Given the description of an element on the screen output the (x, y) to click on. 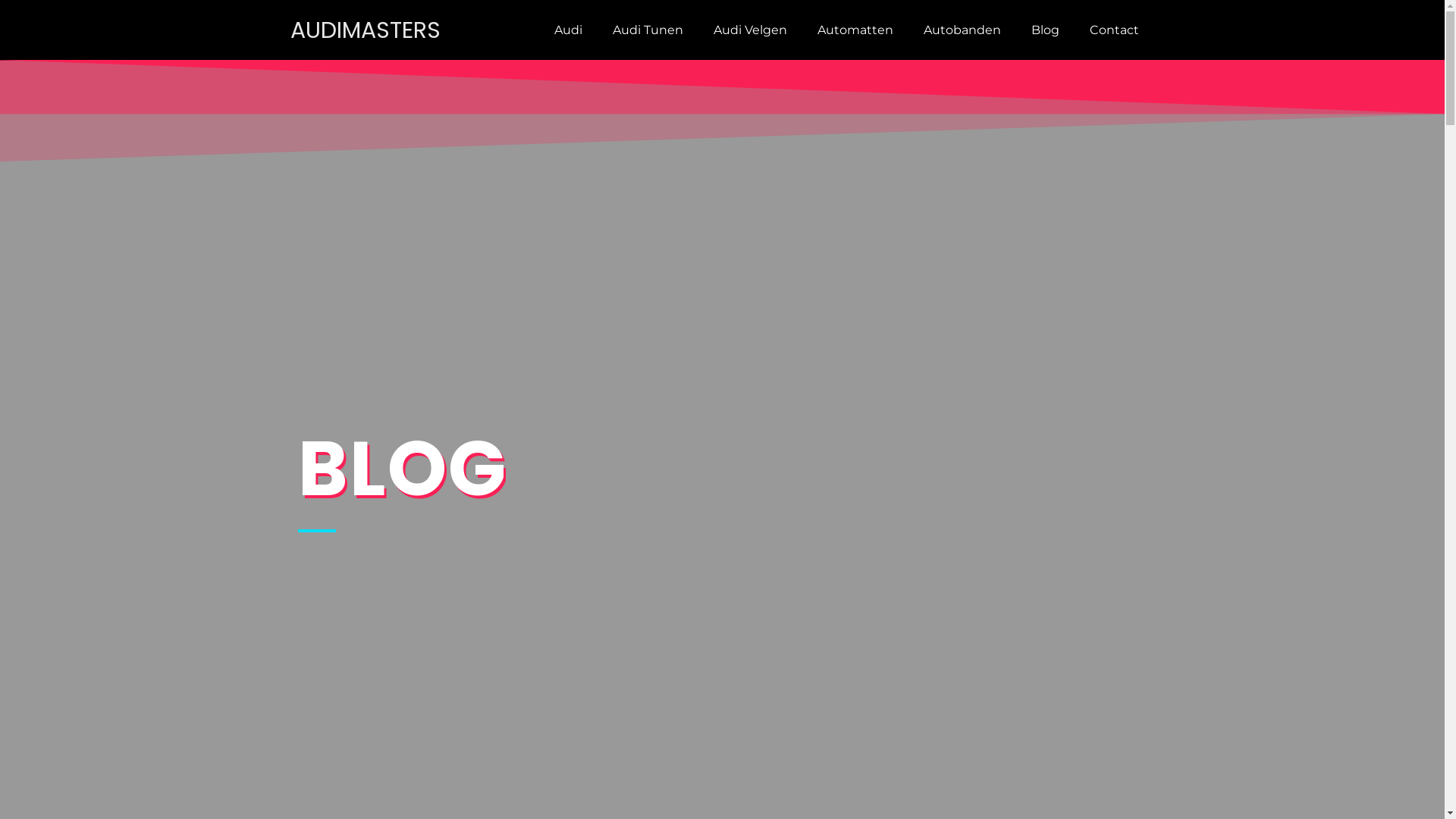
Automatten Element type: text (855, 29)
Audi Element type: text (568, 29)
Audi Tunen Element type: text (647, 29)
AUDIMASTERS Element type: text (364, 30)
Autobanden Element type: text (962, 29)
Contact Element type: text (1114, 29)
Blog Element type: text (1045, 29)
Audi Velgen Element type: text (750, 29)
